Given the description of an element on the screen output the (x, y) to click on. 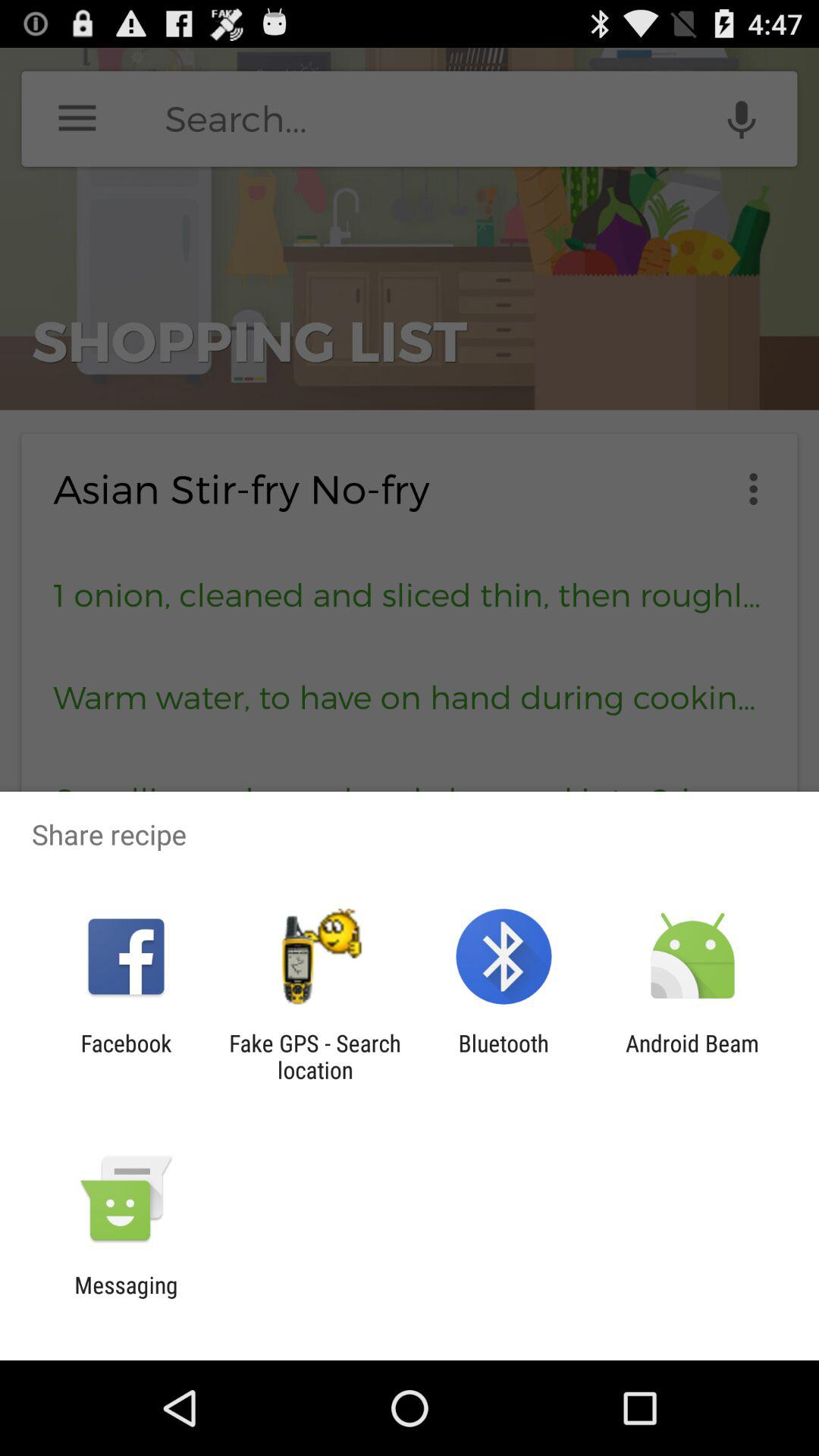
click item next to fake gps search item (125, 1056)
